Given the description of an element on the screen output the (x, y) to click on. 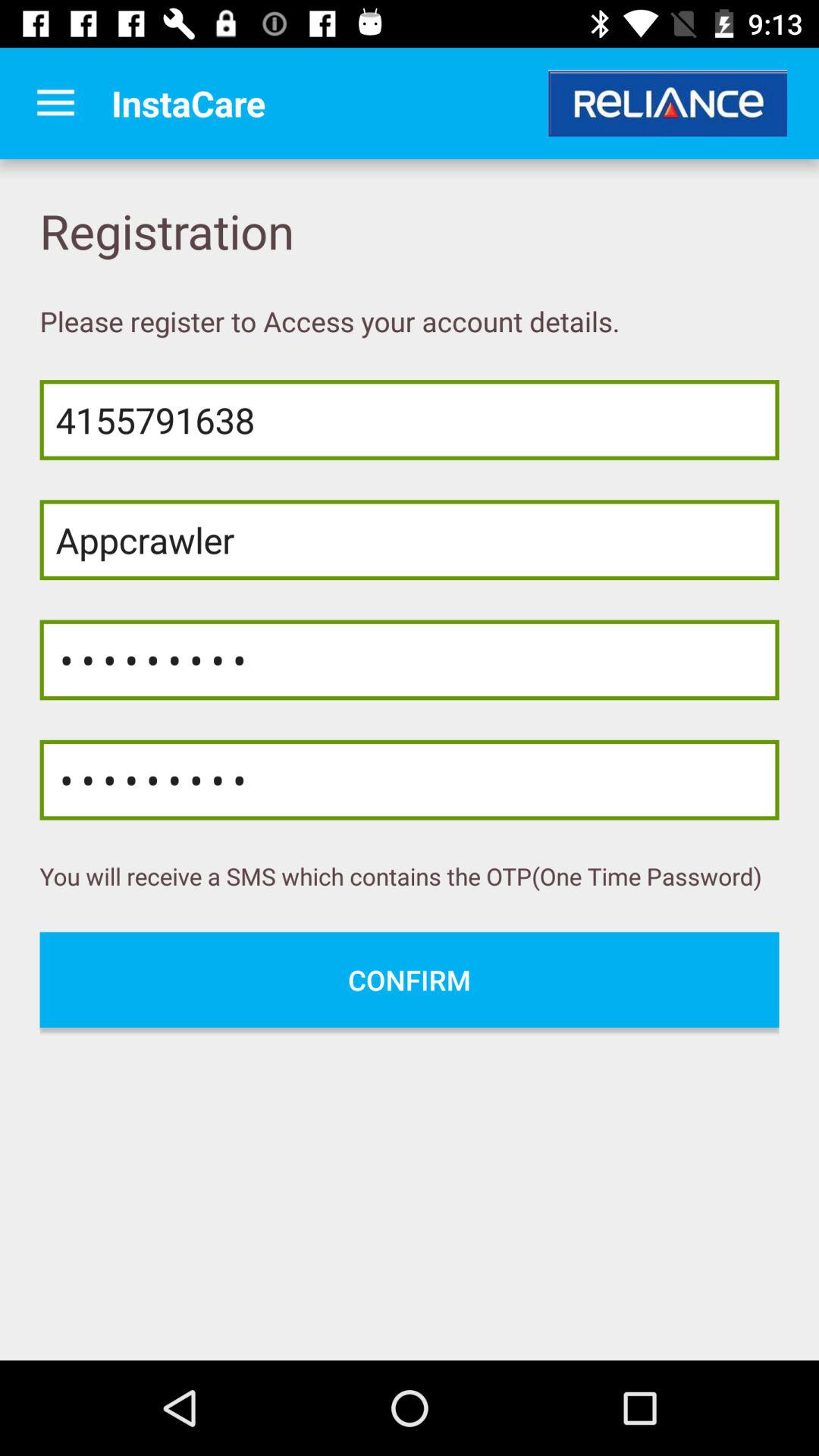
swipe to 4155791638 icon (409, 419)
